Given the description of an element on the screen output the (x, y) to click on. 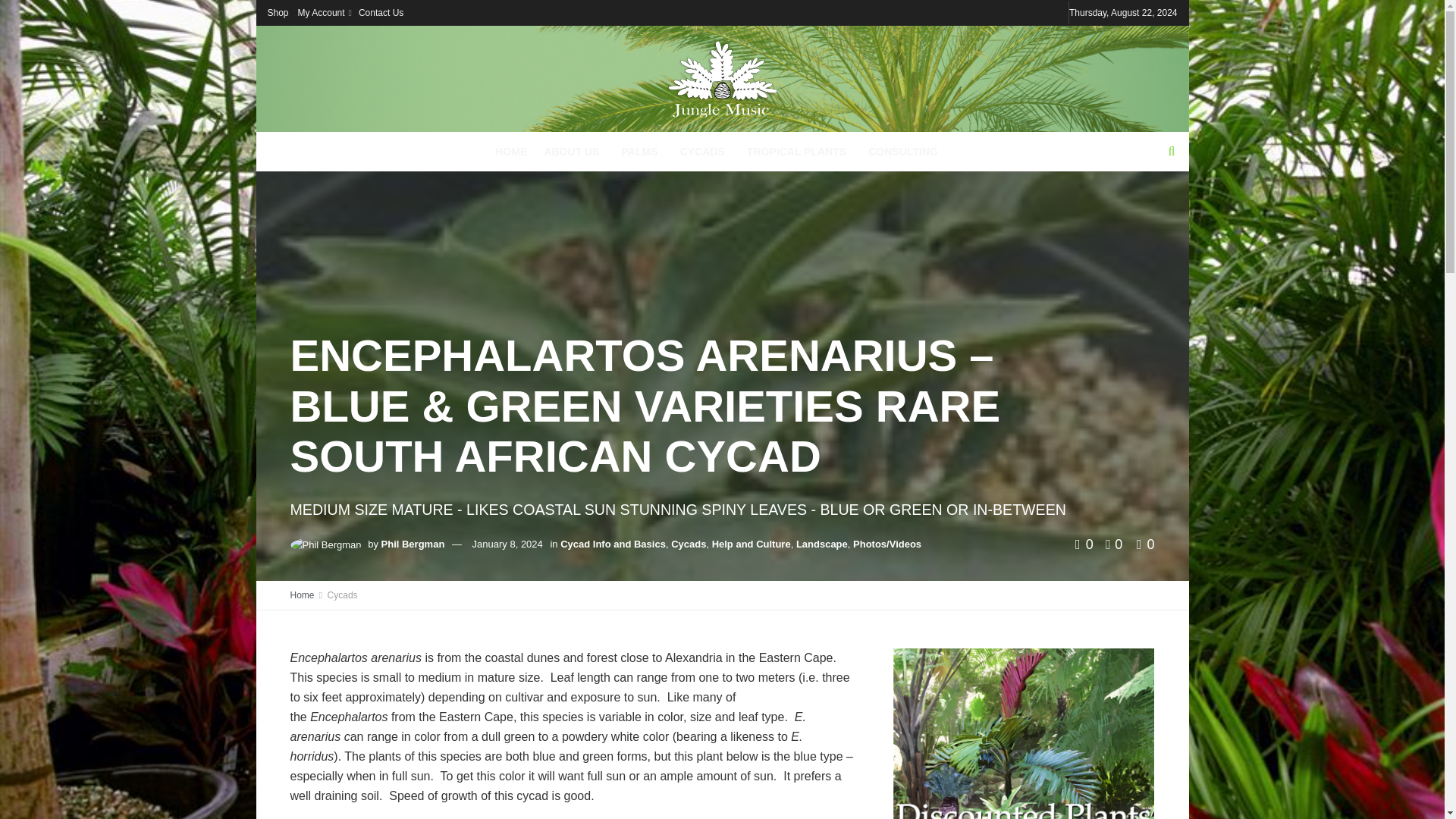
ABOUT US (573, 151)
CONSULTING (902, 151)
TROPICAL PLANTS (798, 151)
CYCADS (704, 151)
HOME (511, 151)
My Account (323, 12)
PALMS (642, 151)
Contact Us (380, 12)
